Given the description of an element on the screen output the (x, y) to click on. 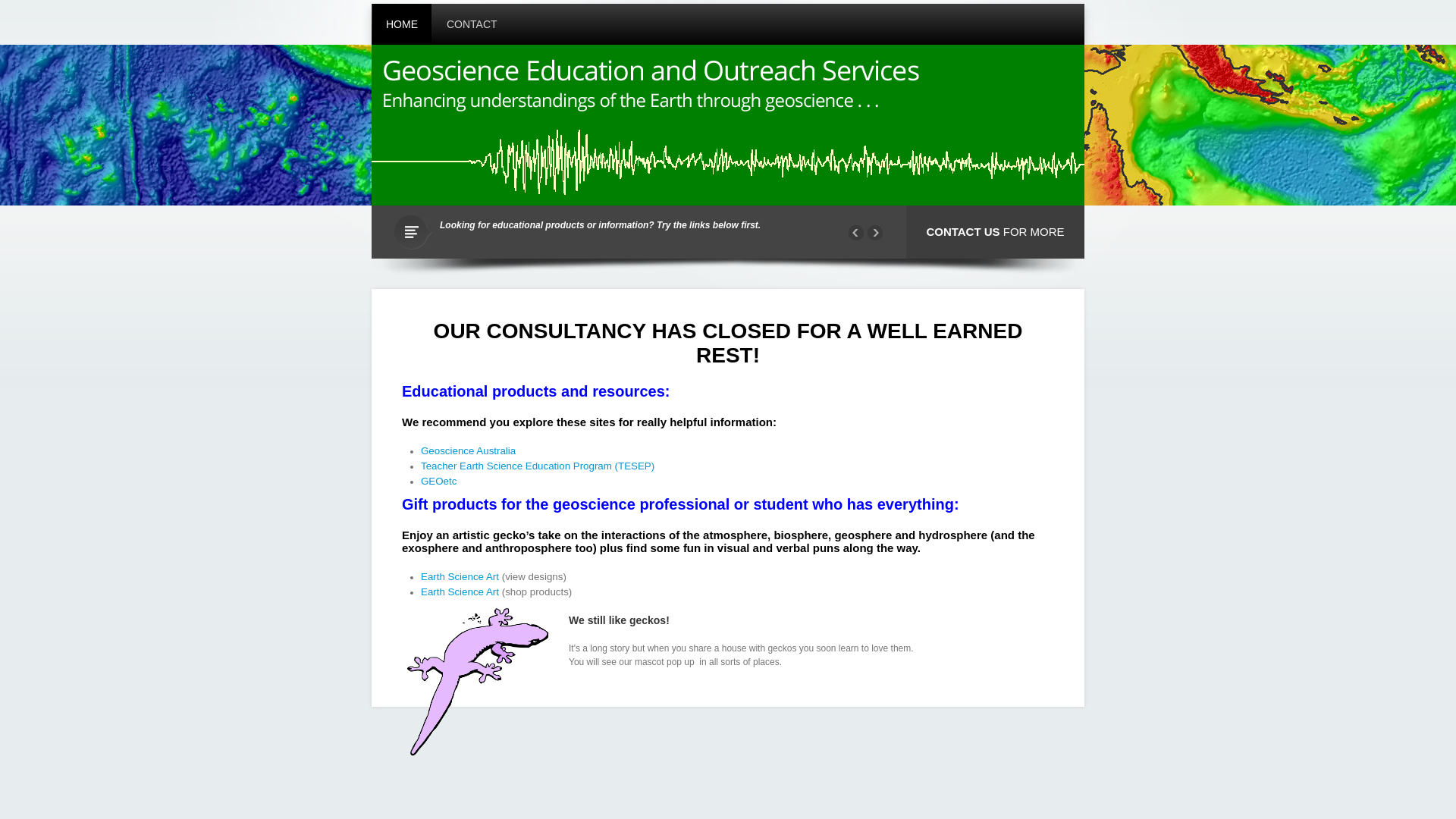
HOME Element type: text (401, 23)
Geoscience Australia Element type: text (467, 450)
GEOetc Element type: text (438, 480)
CONTACT US FOR MORE INFO Element type: text (994, 258)
Earth Science Art Element type: text (459, 591)
CONTACT Element type: text (472, 23)
Earth Science Art Element type: text (459, 576)
Teacher Earth Science Education Program (TESEP) Element type: text (537, 465)
